Given the description of an element on the screen output the (x, y) to click on. 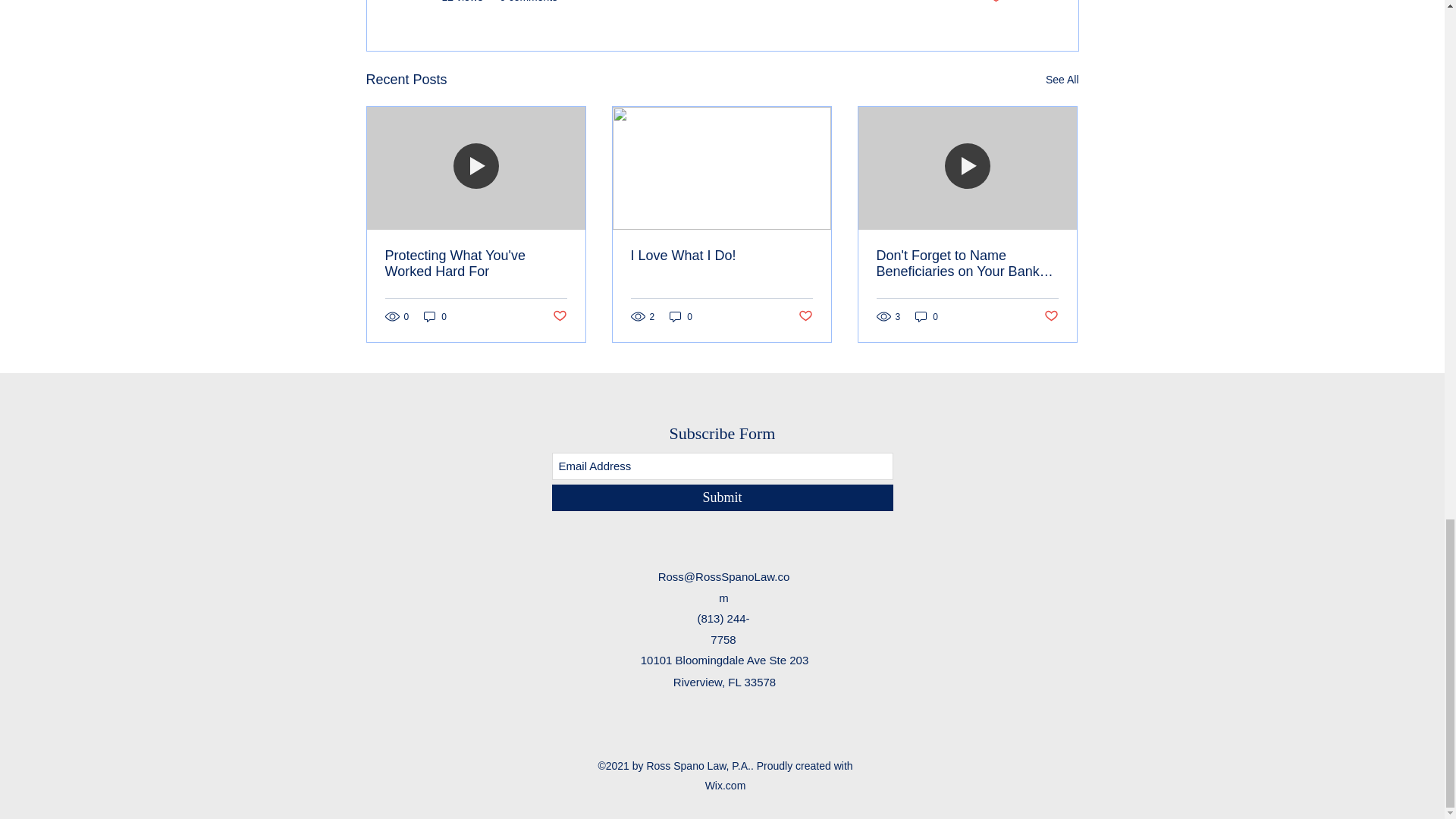
Post not marked as liked (558, 316)
See All (1061, 79)
0 (681, 316)
Submit (722, 497)
Don't Forget to Name Beneficiaries on Your Bank Accounts (967, 264)
0 (435, 316)
Post not marked as liked (804, 316)
I Love What I Do! (721, 255)
0 (926, 316)
Post not marked as liked (1050, 316)
Protecting What You've Worked Hard For (476, 264)
Post not marked as liked (995, 2)
